Given the description of an element on the screen output the (x, y) to click on. 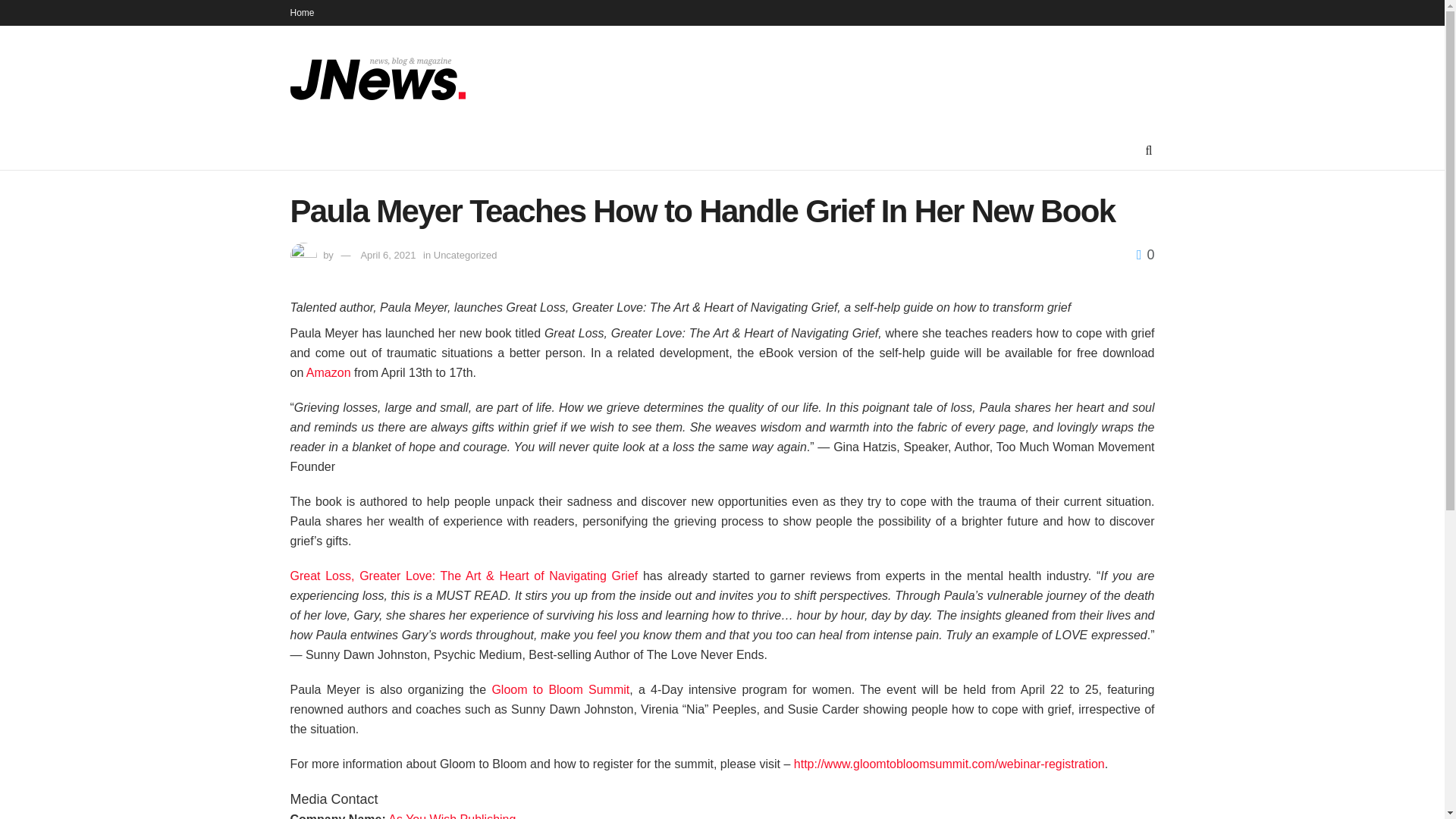
Home (301, 12)
Gloom to Bloom Summit (560, 689)
As You Wish Publishing (451, 816)
0 (1145, 254)
April 6, 2021 (386, 255)
Amazon (327, 372)
